Given the description of an element on the screen output the (x, y) to click on. 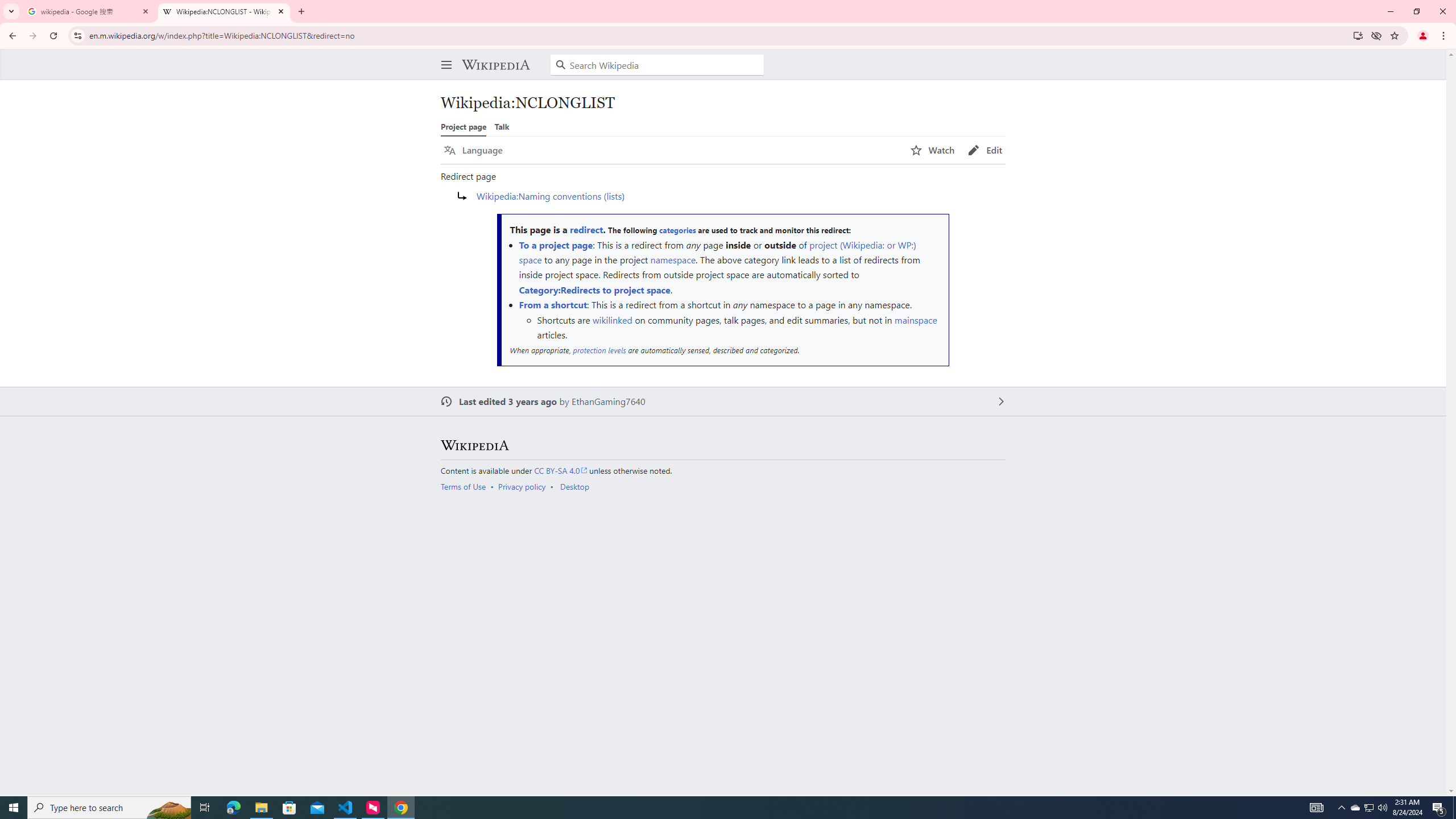
Project page (462, 126)
Terms of Use (462, 486)
Watch (932, 149)
redirect (585, 229)
Edit (984, 149)
Desktop (574, 486)
Install Wikipedia (1358, 35)
namespace (672, 259)
